Given the description of an element on the screen output the (x, y) to click on. 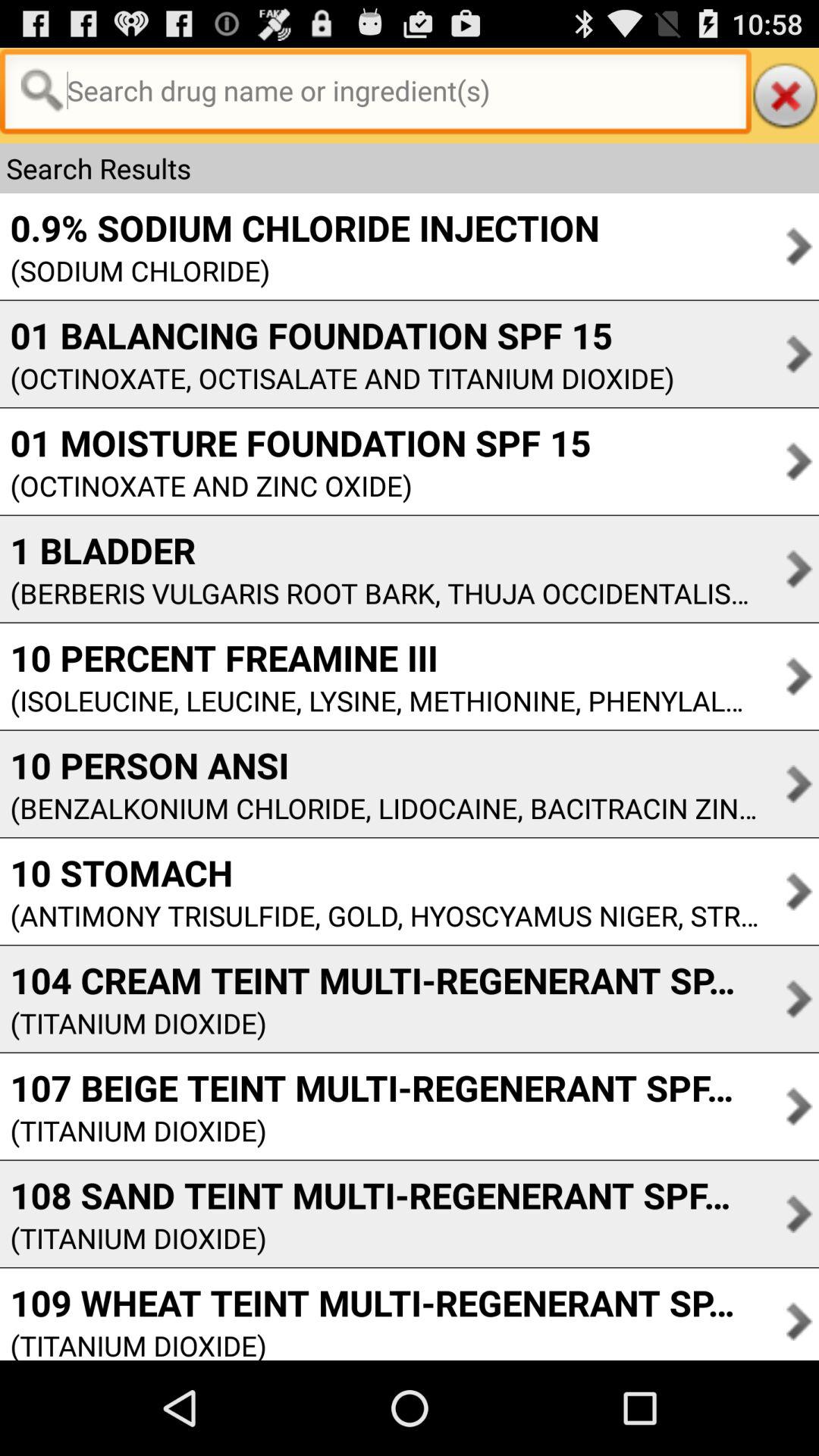
click the icon above search results (785, 95)
